Given the description of an element on the screen output the (x, y) to click on. 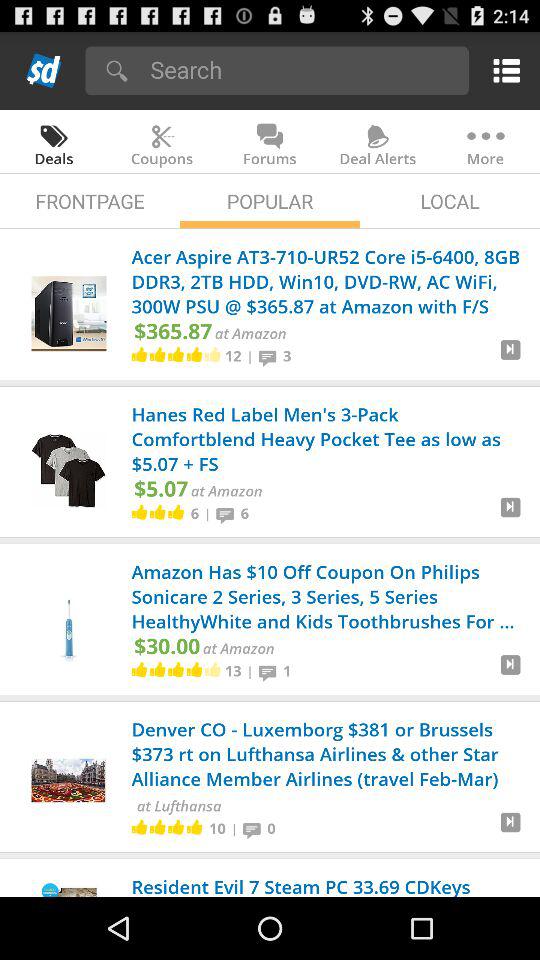
type keyword to search (302, 69)
